Given the description of an element on the screen output the (x, y) to click on. 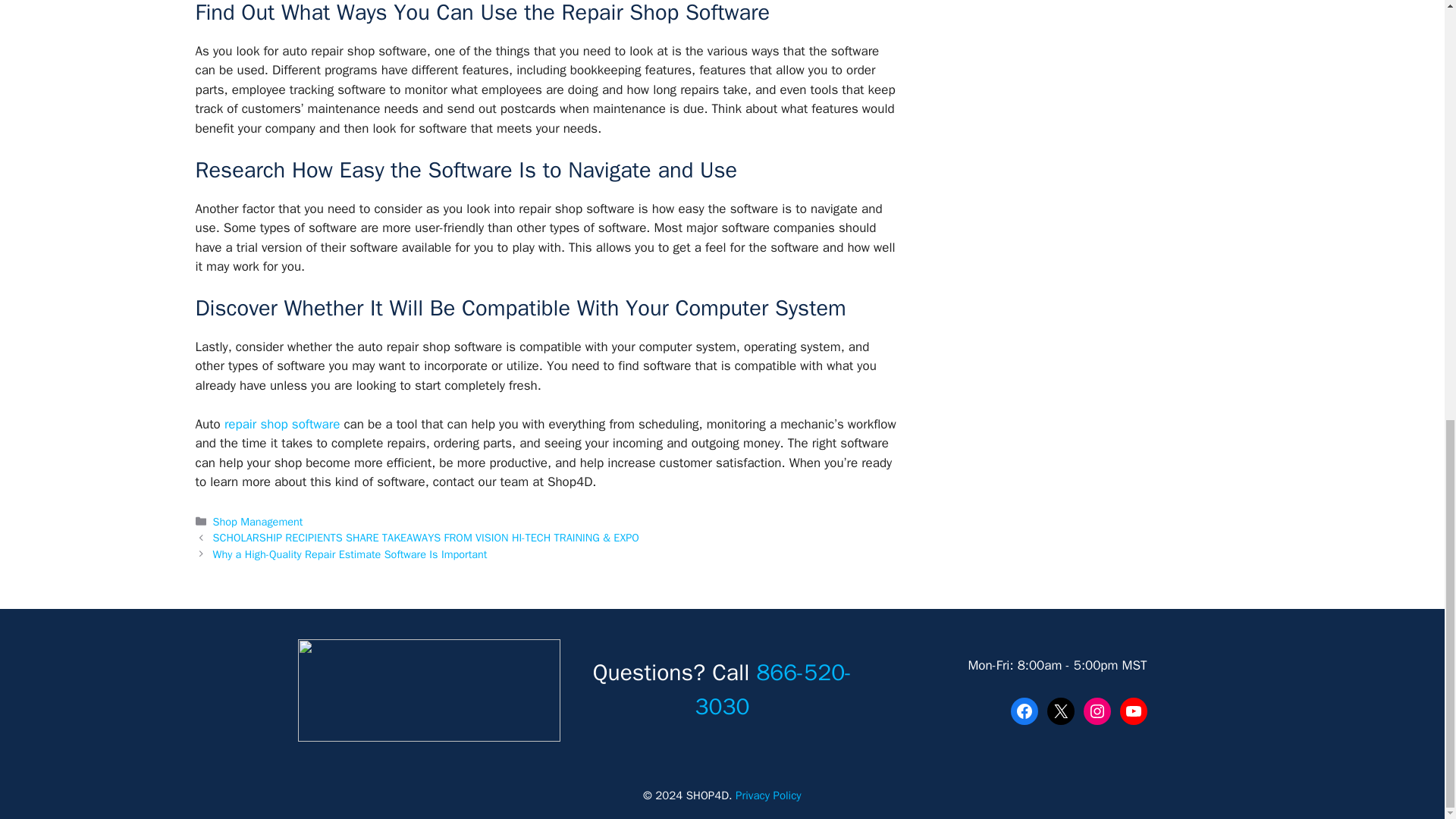
Instagram (1096, 710)
X (1060, 710)
Why a High-Quality Repair Estimate Software Is Important (349, 554)
Shop Management (257, 521)
repair shop software (281, 424)
866-520-3030 (773, 689)
Facebook (1024, 710)
